Given the description of an element on the screen output the (x, y) to click on. 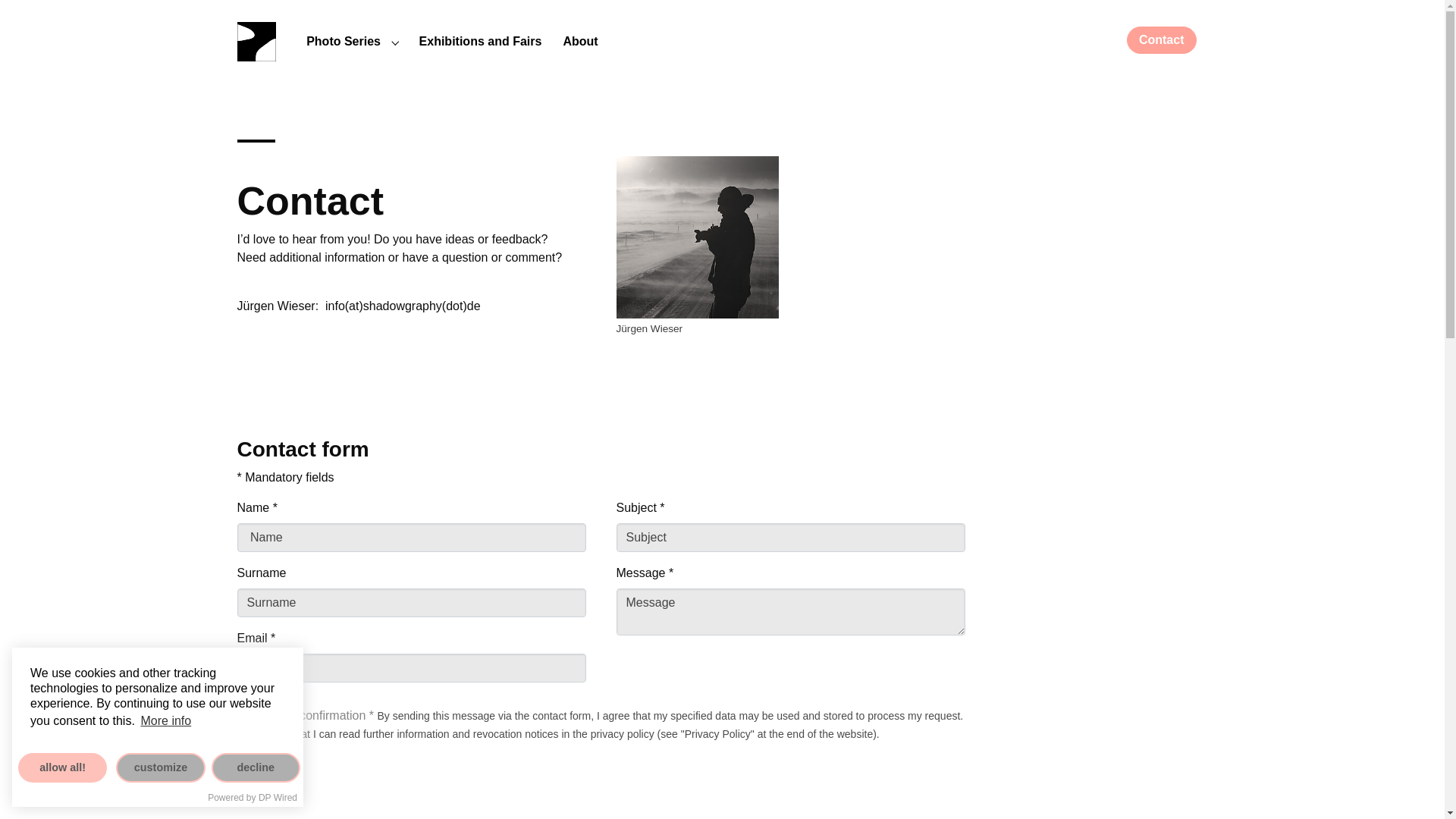
Exhibitions and Fairs (480, 41)
1 (241, 715)
test (402, 305)
DP Wired (278, 797)
Photo Series (343, 41)
About (580, 41)
More info (165, 721)
Submit (264, 769)
customize (160, 767)
decline (255, 767)
